Given the description of an element on the screen output the (x, y) to click on. 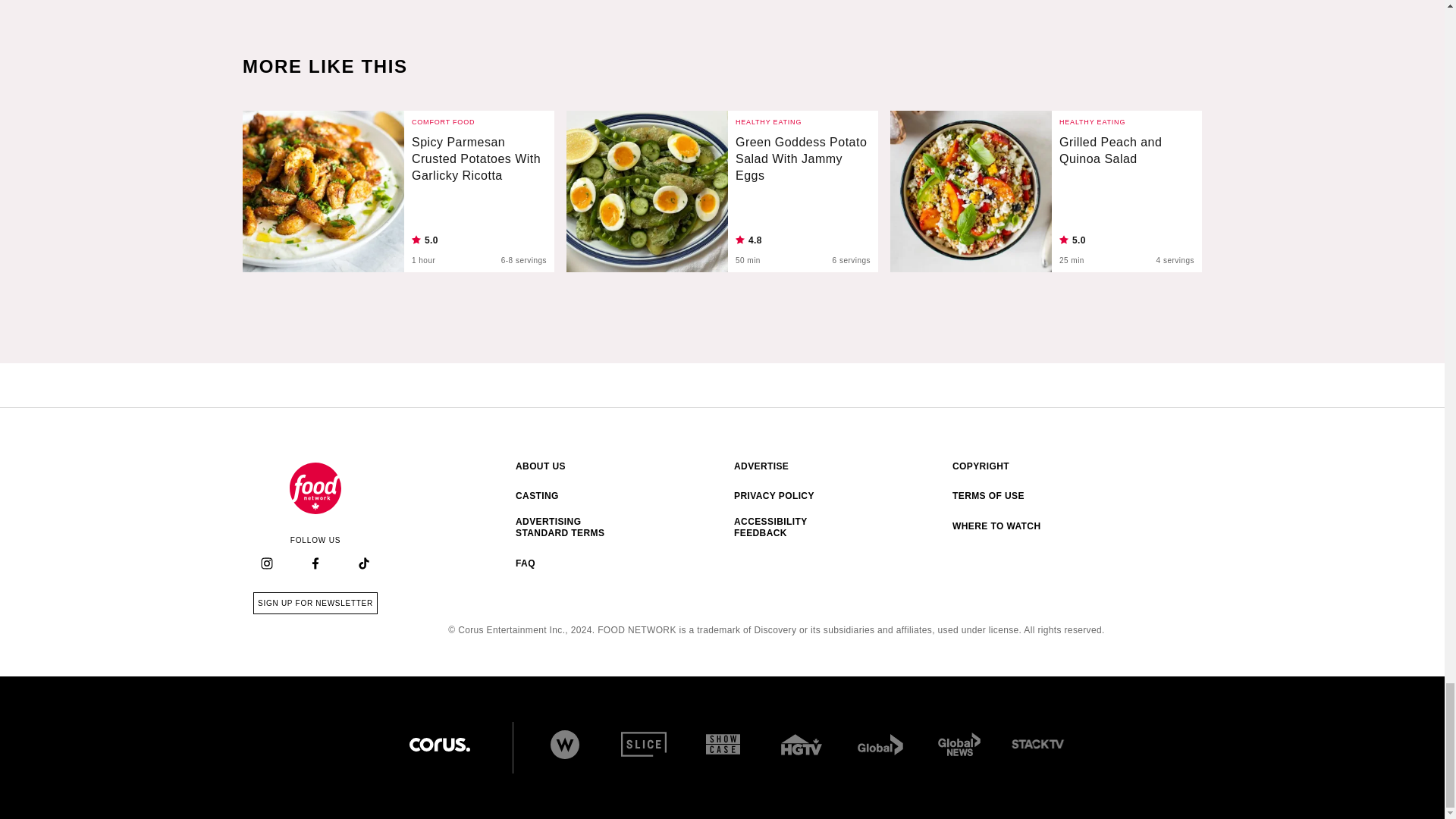
Spicy Parmesan Crusted Potatoes With Garlicky Ricotta (479, 167)
Explore more content tagged with comfort food. (443, 121)
Green Goddess Potato Salad With Jammy Eggs (647, 190)
Spicy Parmesan Crusted Potatoes With Garlicky Ricotta (323, 190)
Explore more content tagged with healthy eating. (768, 121)
COMFORT FOOD (443, 121)
